Given the description of an element on the screen output the (x, y) to click on. 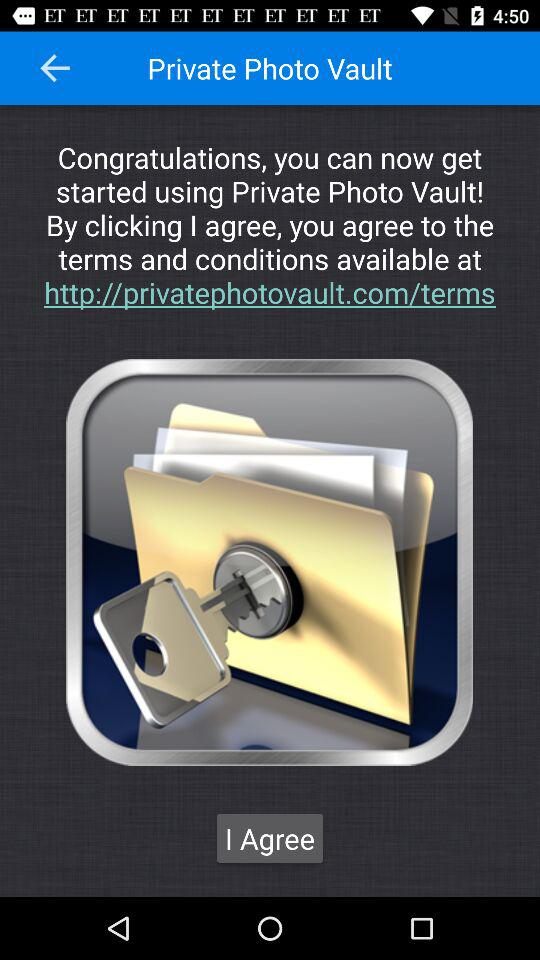
tap the icon next to private photo vault icon (55, 68)
